Given the description of an element on the screen output the (x, y) to click on. 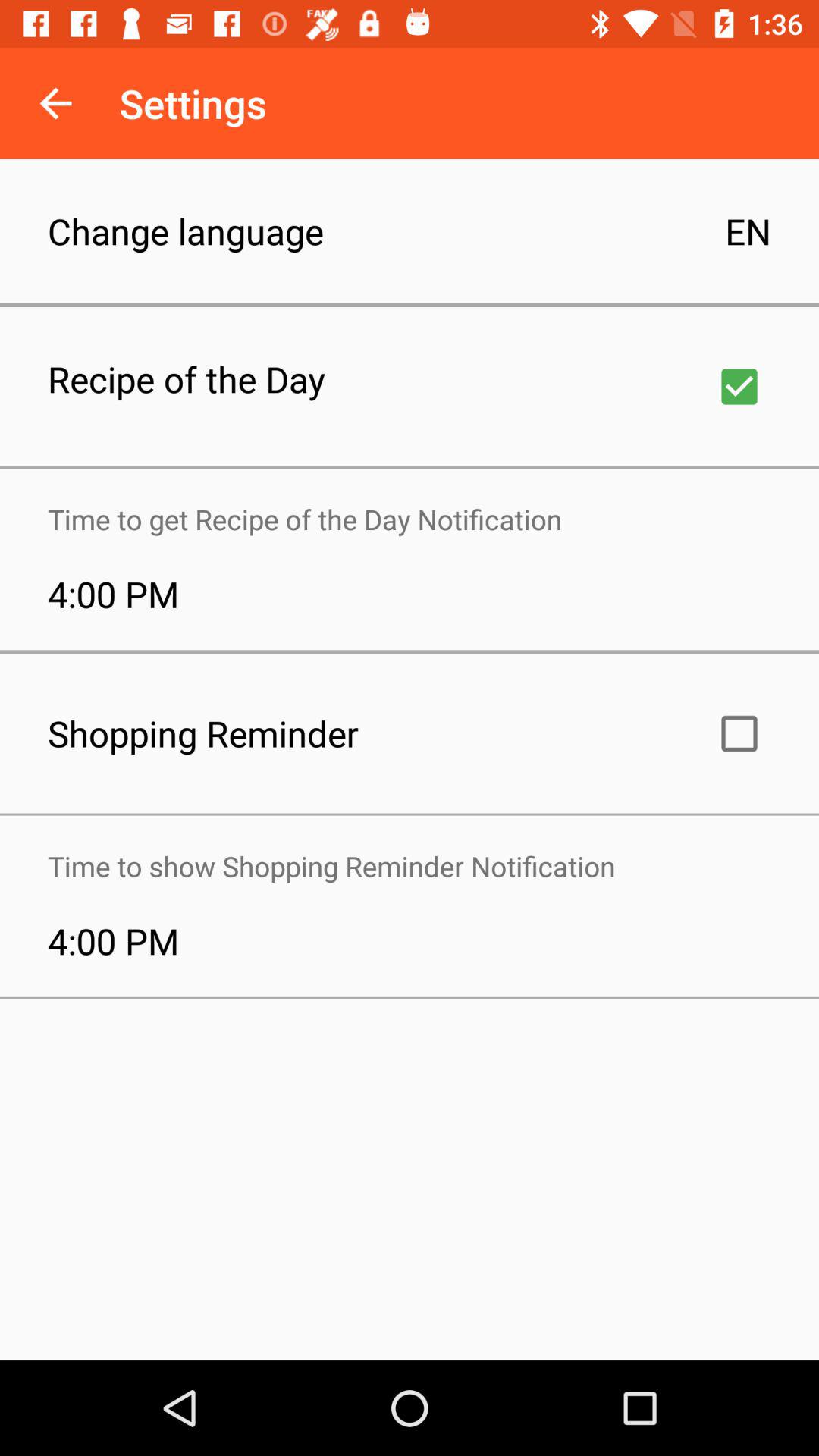
uncheck box (739, 386)
